Given the description of an element on the screen output the (x, y) to click on. 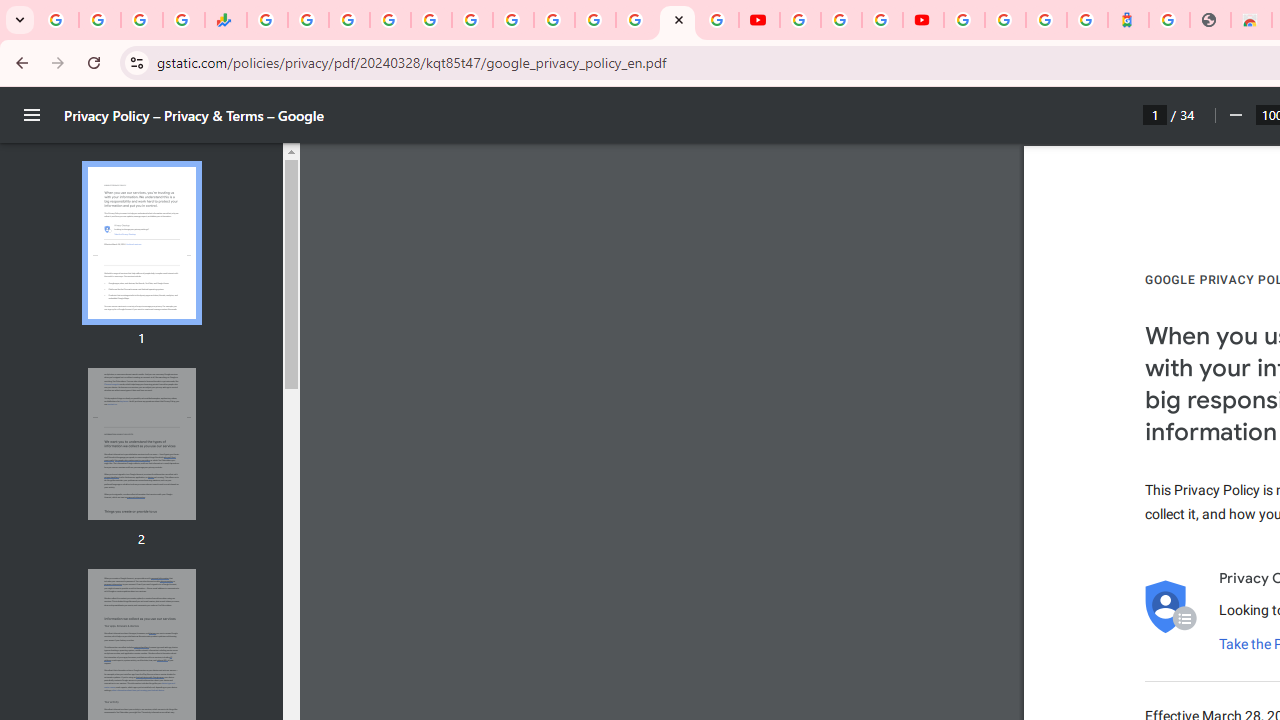
Privacy Checkup (717, 20)
YouTube (758, 20)
Create your Google Account (881, 20)
Thumbnail for page 1 (141, 243)
Sign in - Google Accounts (1005, 20)
Google Account Help (840, 20)
Sign in - Google Accounts (594, 20)
